Given the description of an element on the screen output the (x, y) to click on. 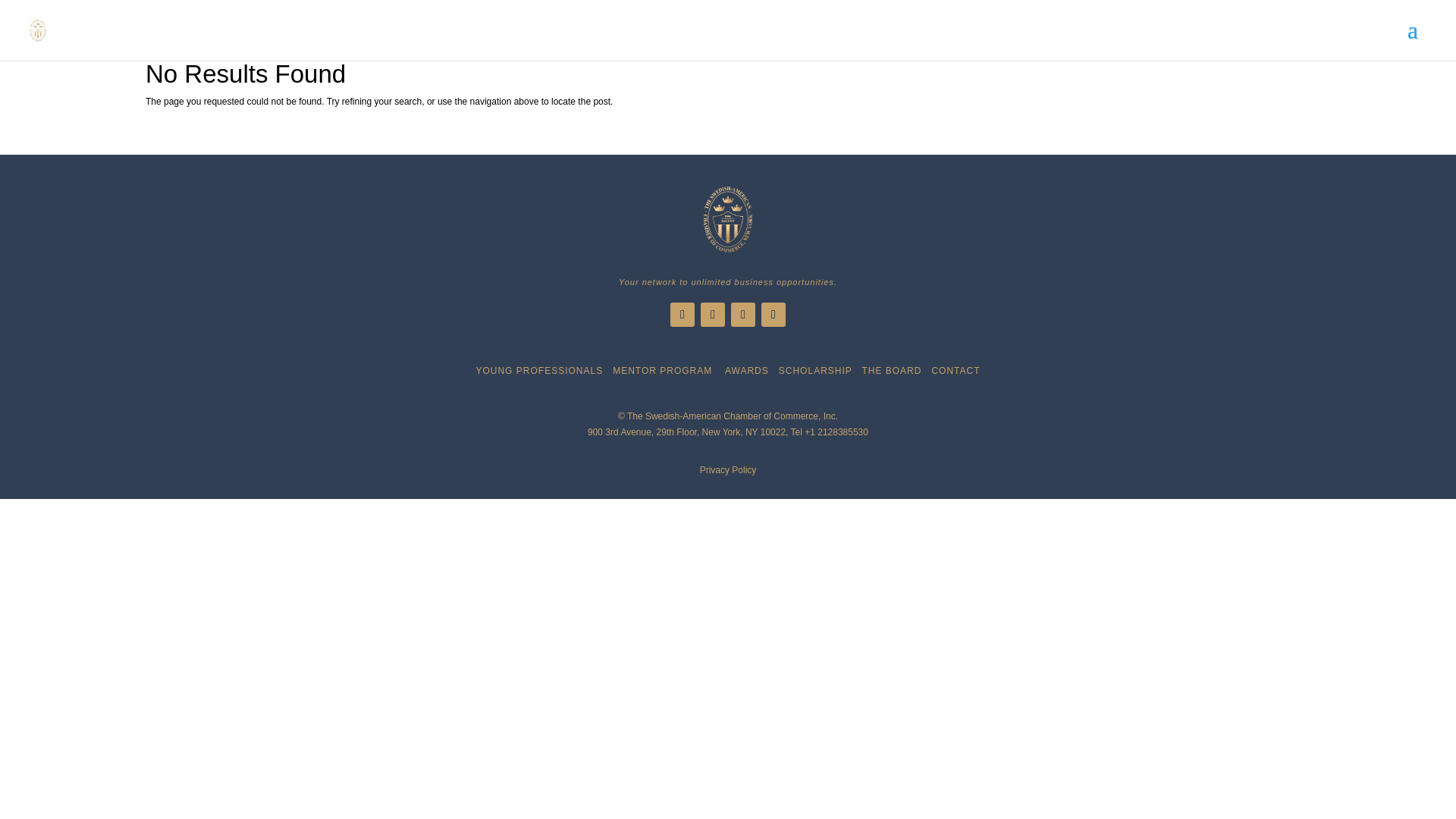
Follow on LinkedIn (742, 314)
YOUNG PROFESSIONALS (539, 370)
Follow on Facebook (681, 314)
Follow on X (712, 314)
Follow on Instagram (773, 314)
